Given the description of an element on the screen output the (x, y) to click on. 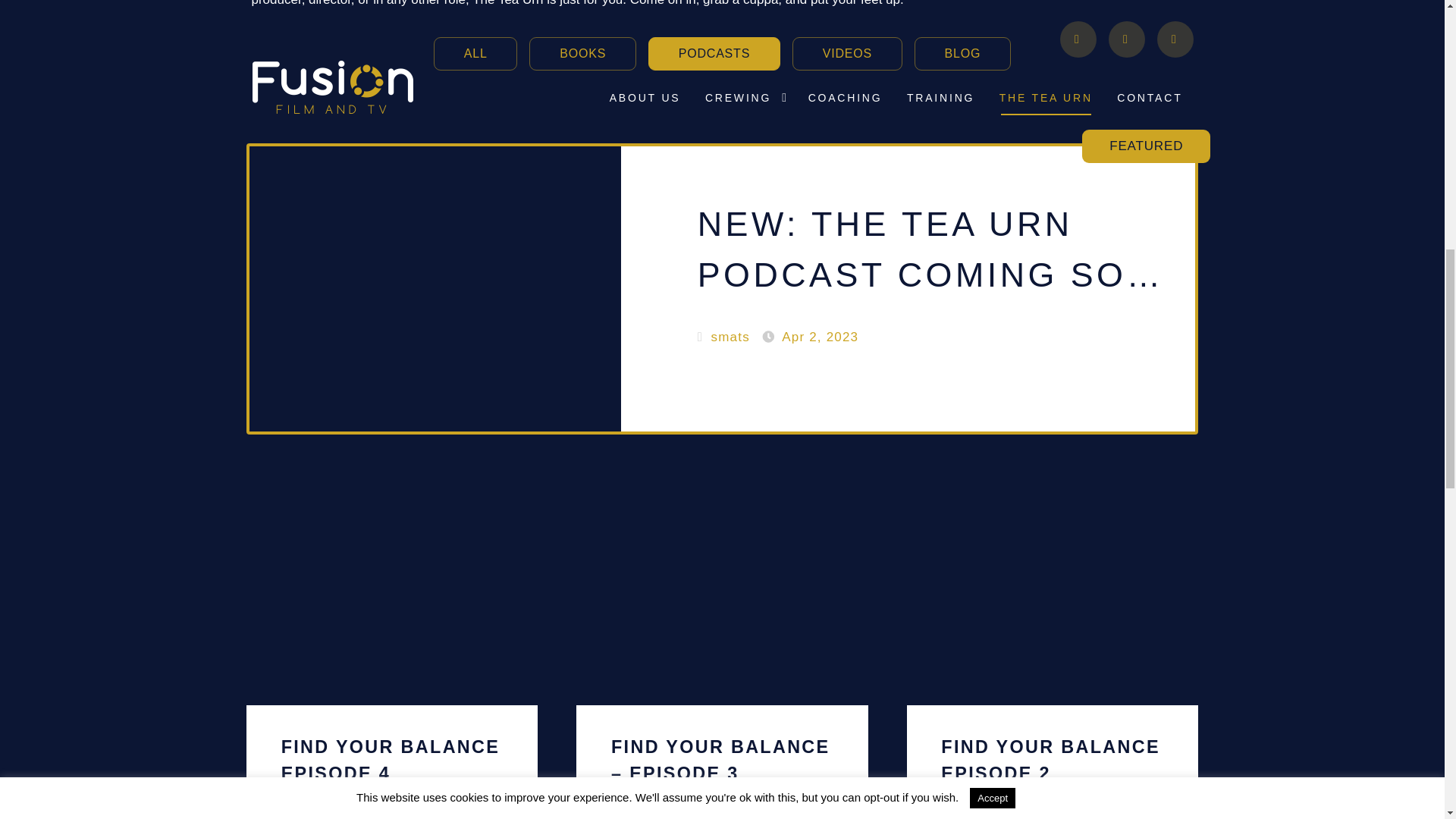
BLOG (1052, 656)
PODCASTS (962, 52)
NEW: The Tea Urn podcast coming soon (713, 52)
ALL (847, 52)
Find Your Balance Episode 4 (474, 52)
Find Your Balance Episode 2 (391, 656)
